Given the description of an element on the screen output the (x, y) to click on. 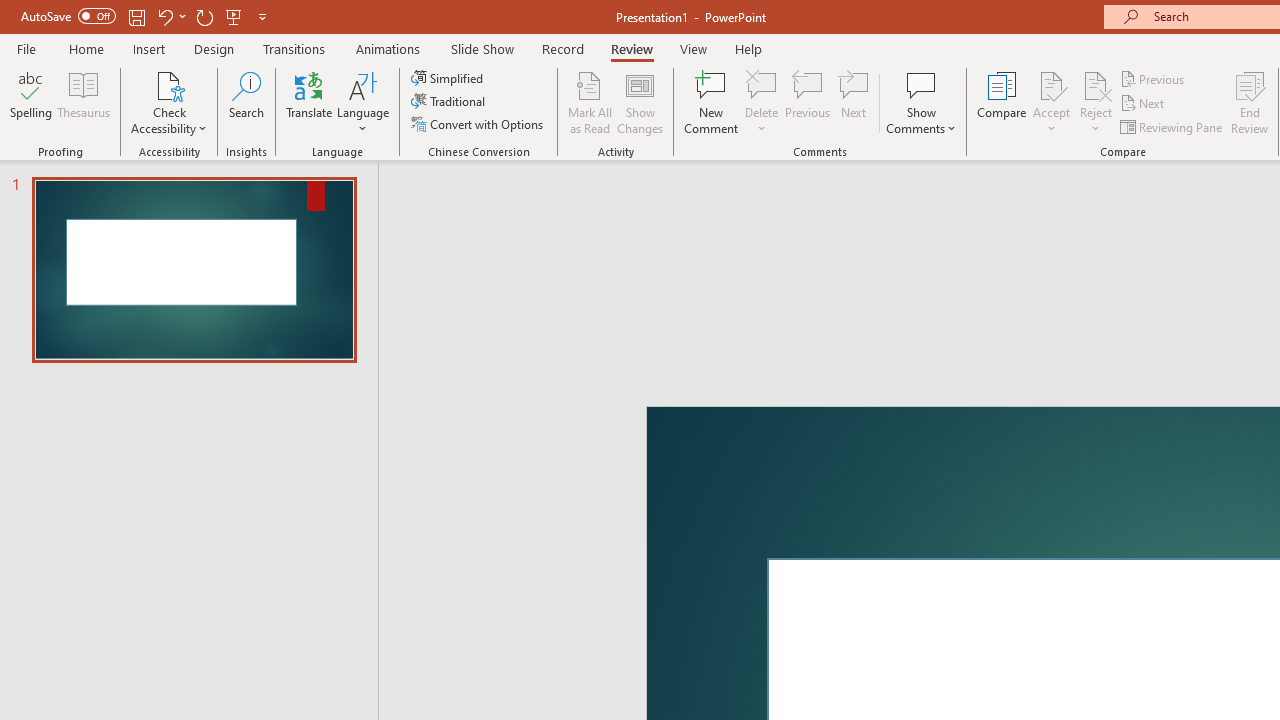
Spelling... (31, 102)
Show Comments (921, 84)
Translate (309, 102)
Simplified (449, 78)
Reject (1096, 102)
Mark All as Read (589, 102)
